Given the description of an element on the screen output the (x, y) to click on. 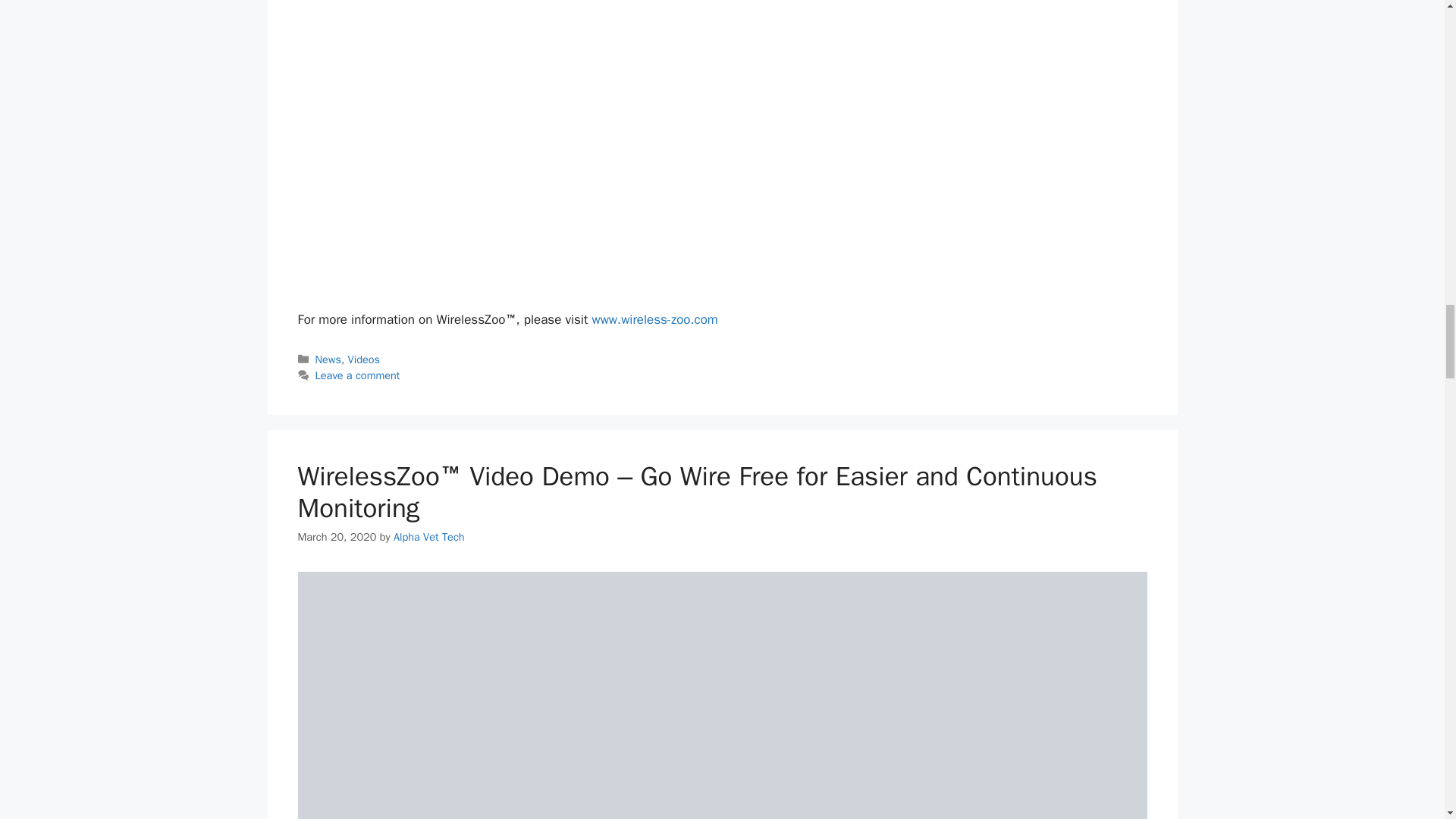
Leave a comment (357, 375)
Alpha Vet Tech (428, 536)
Videos (363, 359)
News (327, 359)
www.wireless-zoo.com (654, 319)
View all posts by Alpha Vet Tech (428, 536)
